Given the description of an element on the screen output the (x, y) to click on. 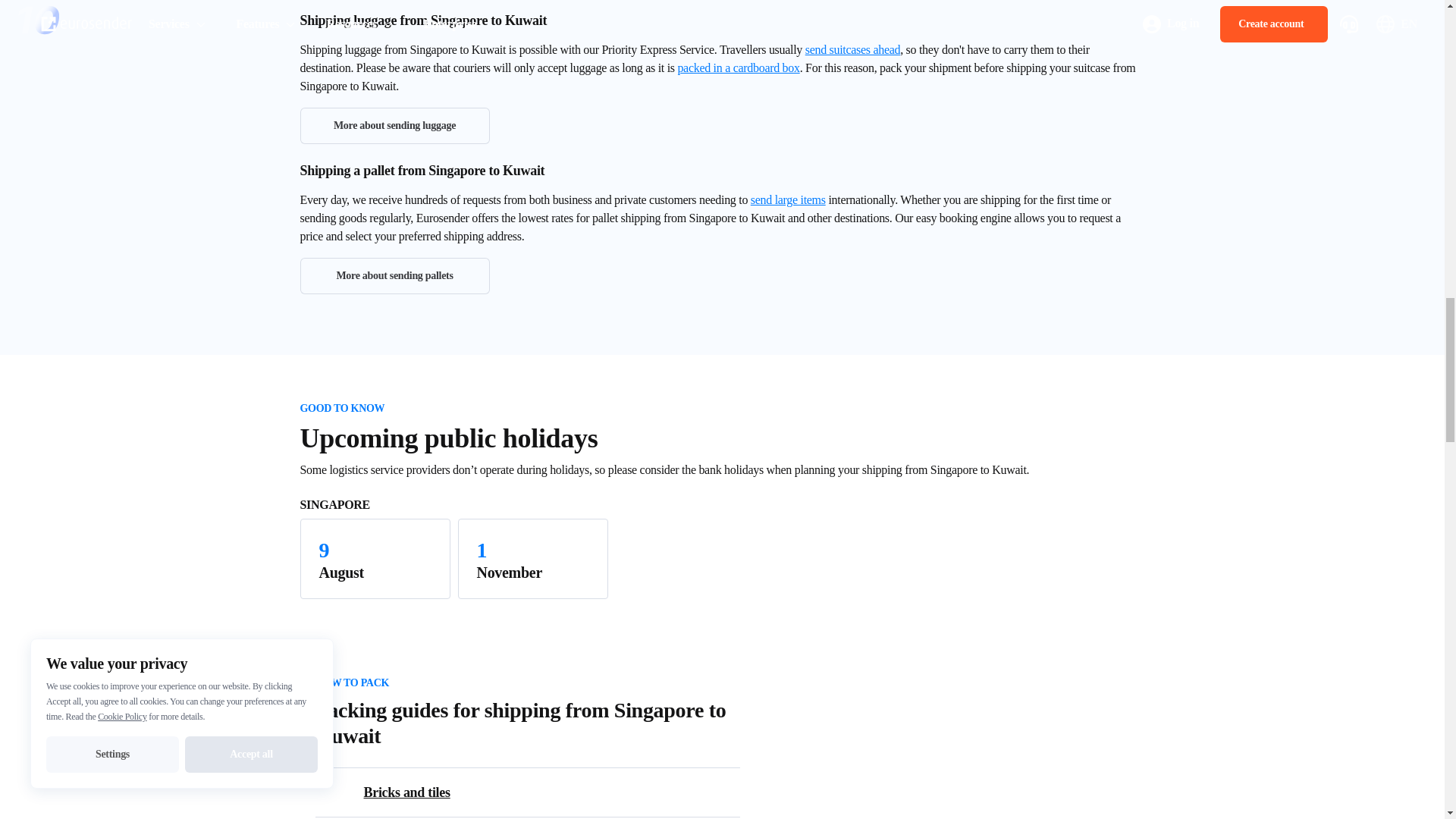
Bricks and tiles (537, 791)
send large items (788, 199)
send suitcases ahead (853, 49)
More about sending luggage (394, 125)
packed in a cardboard box (738, 67)
More about sending pallets (394, 275)
